Given the description of an element on the screen output the (x, y) to click on. 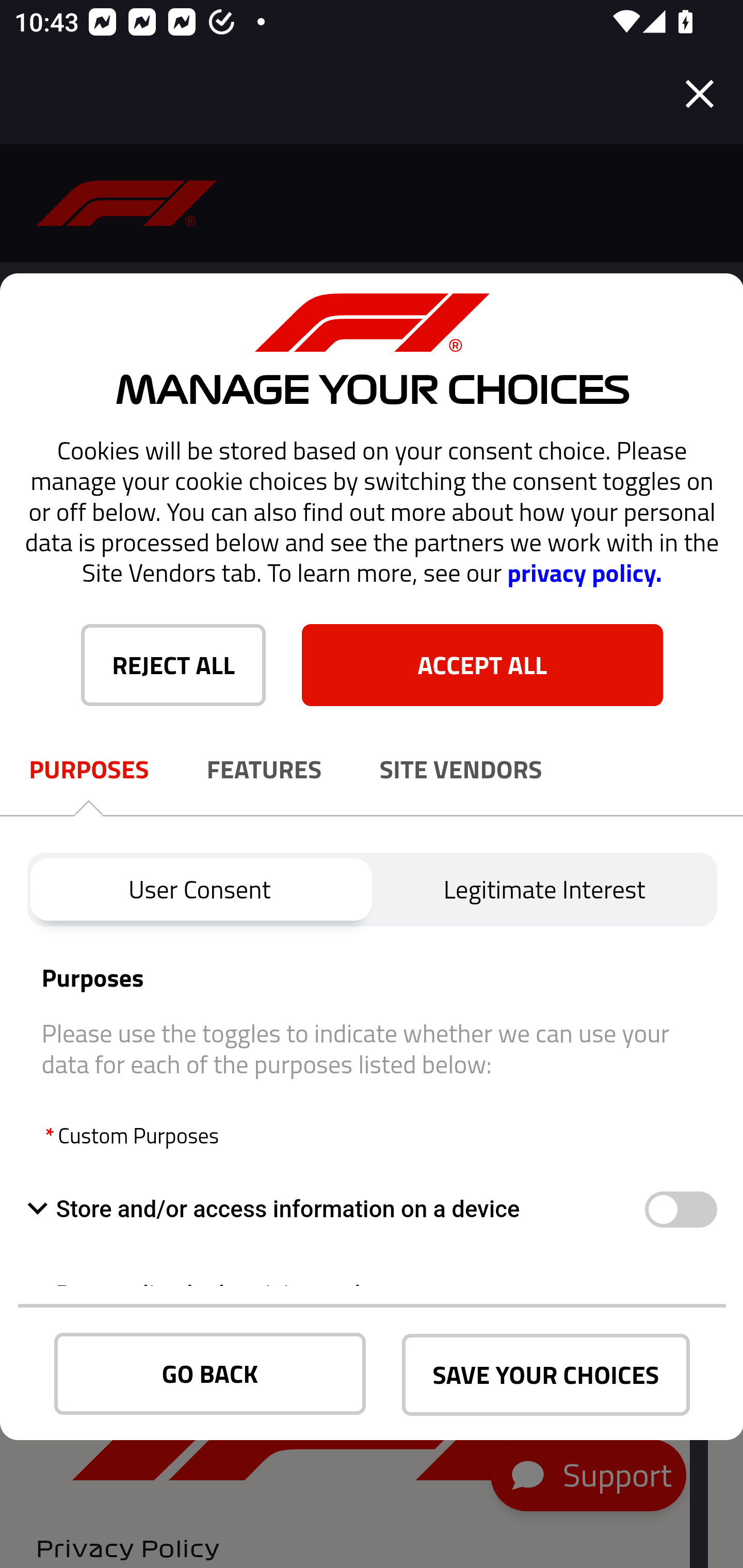
Close (699, 93)
privacy policy. (583, 572)
REJECT ALL (173, 664)
ACCEPT ALL (481, 664)
PURPOSES (89, 769)
FEATURES (264, 769)
SITE VENDORS (461, 769)
User Consent (199, 889)
Legitimate Interest (545, 889)
SIGN IN (149, 955)
Register with F1 (554, 1026)
Store and/or access information on a device (335, 1209)
Store and/or access information on a device (680, 1210)
GO BACK (210, 1373)
SAVE YOUR CHOICES (546, 1374)
